Given the description of an element on the screen output the (x, y) to click on. 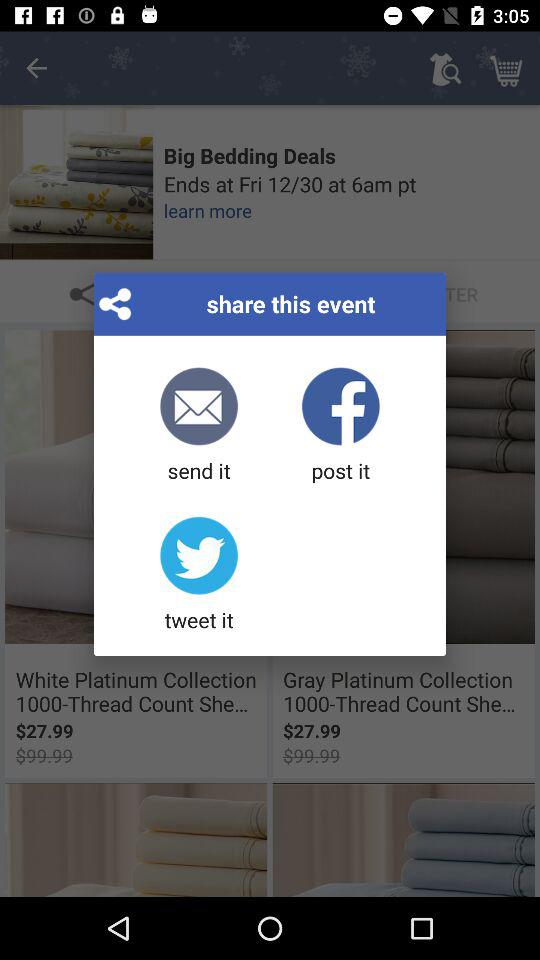
flip until the tweet it (198, 575)
